Given the description of an element on the screen output the (x, y) to click on. 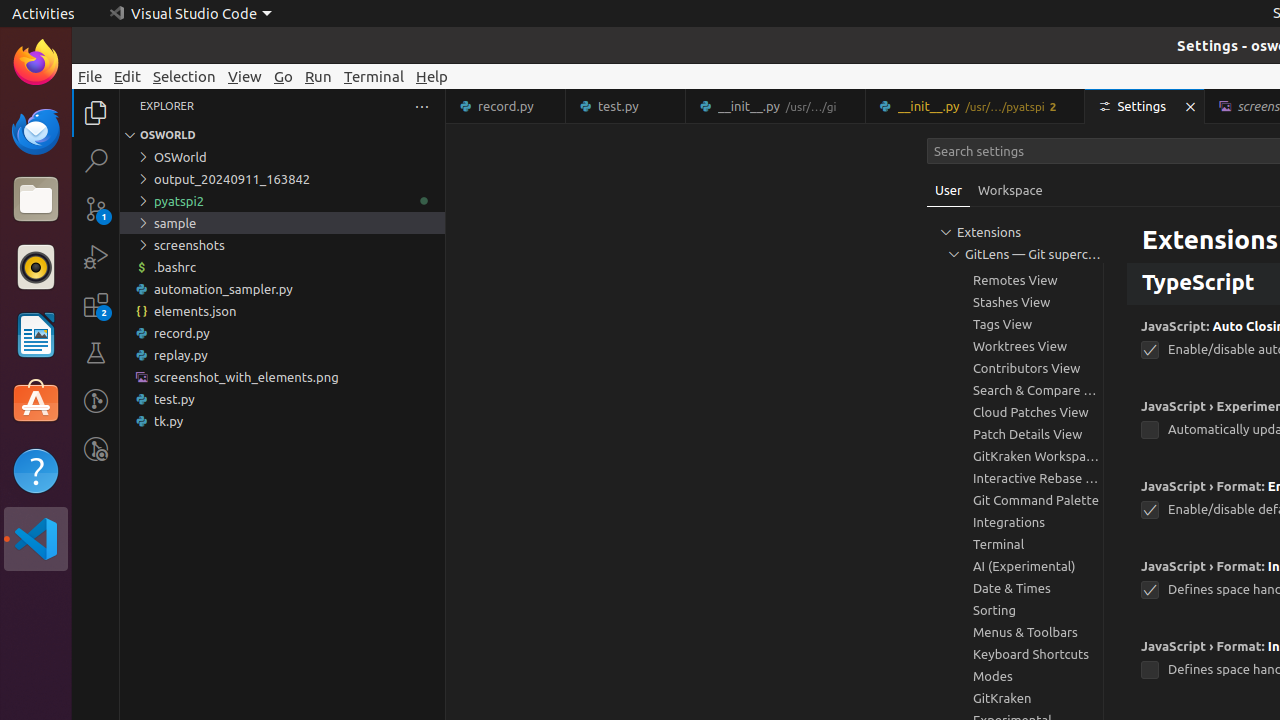
javascript.format.enable Element type: check-box (1150, 510)
javascript.autoClosingTags Element type: check-box (1150, 350)
